Given the description of an element on the screen output the (x, y) to click on. 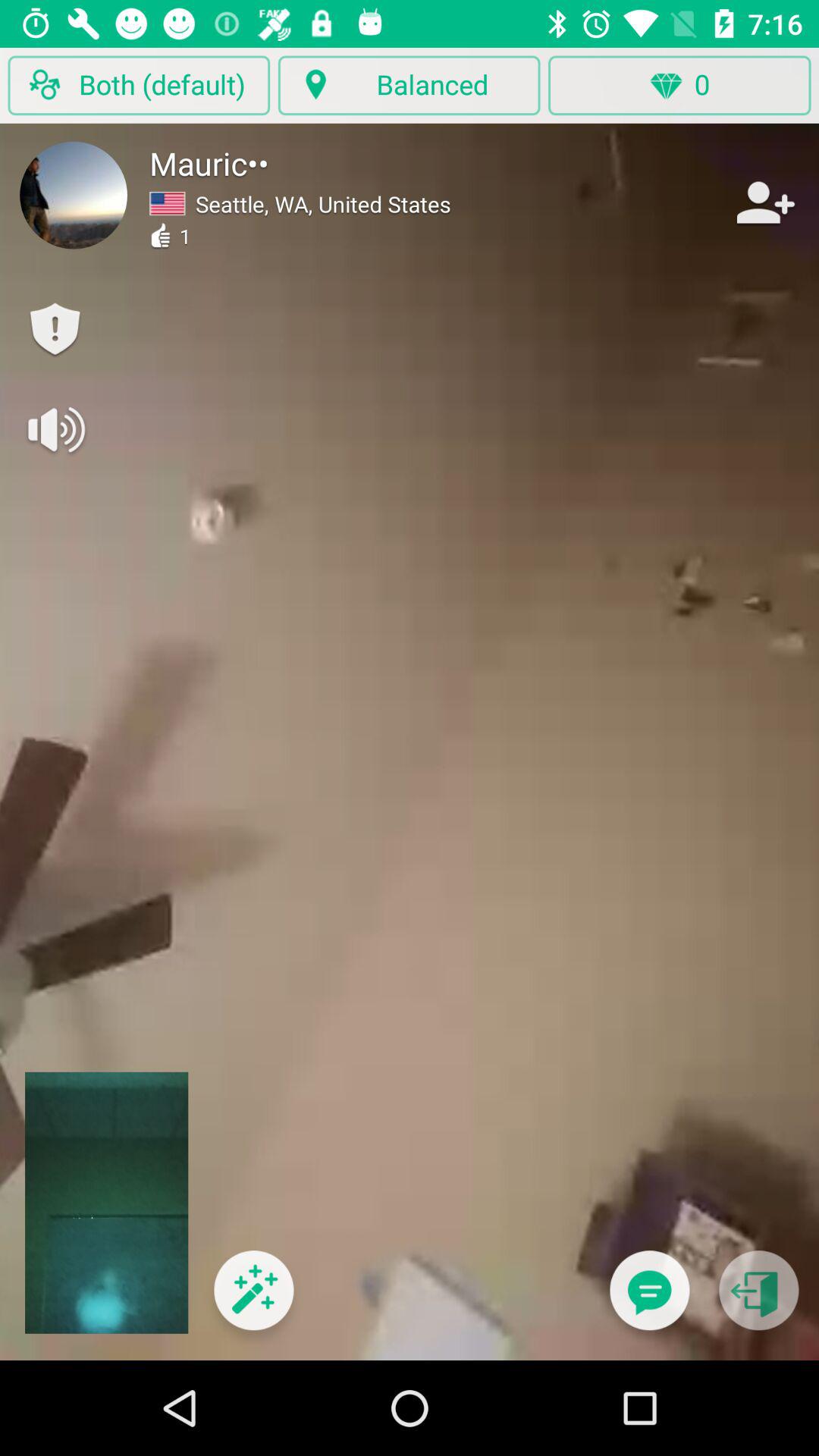
select item at the bottom left corner (253, 1300)
